Given the description of an element on the screen output the (x, y) to click on. 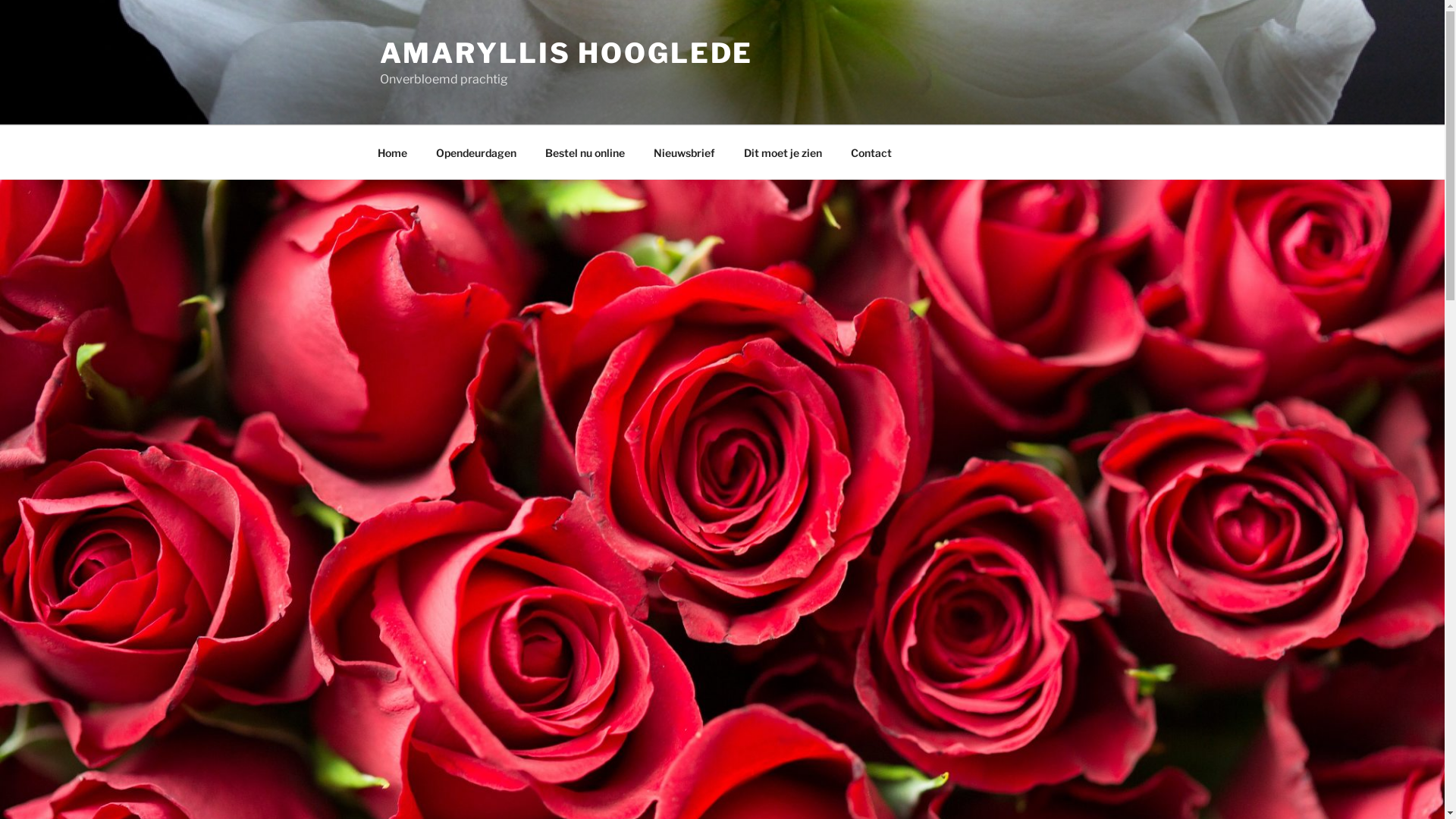
Home Element type: text (392, 151)
Contact Element type: text (870, 151)
Bestel nu online Element type: text (585, 151)
AMARYLLIS HOOGLEDE Element type: text (566, 52)
Opendeurdagen Element type: text (476, 151)
Nieuwsbrief Element type: text (684, 151)
Dit moet je zien Element type: text (783, 151)
